Given the description of an element on the screen output the (x, y) to click on. 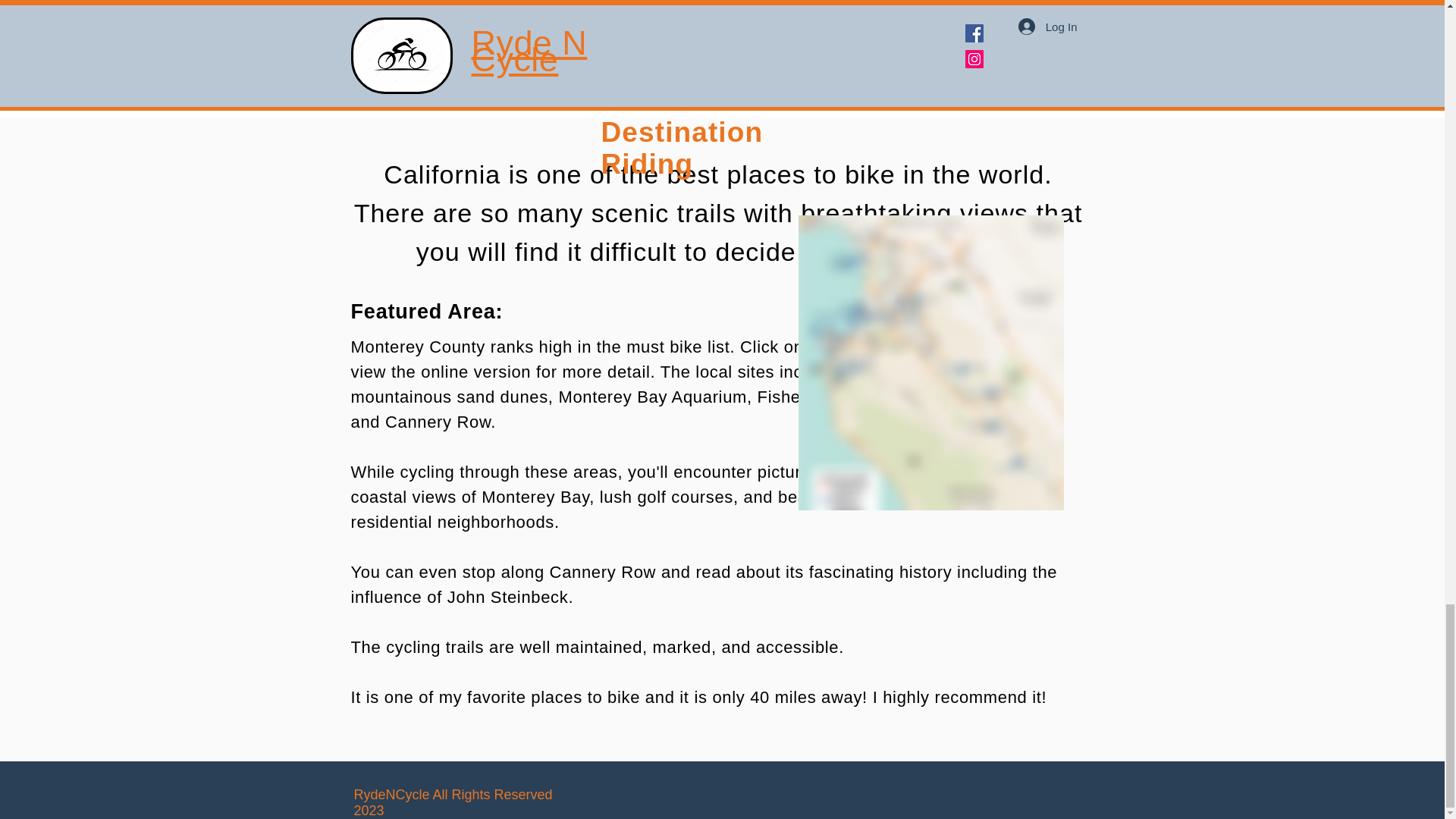
Find bike friendly trails in your own locale. (934, 4)
Monterey County (417, 346)
